Given the description of an element on the screen output the (x, y) to click on. 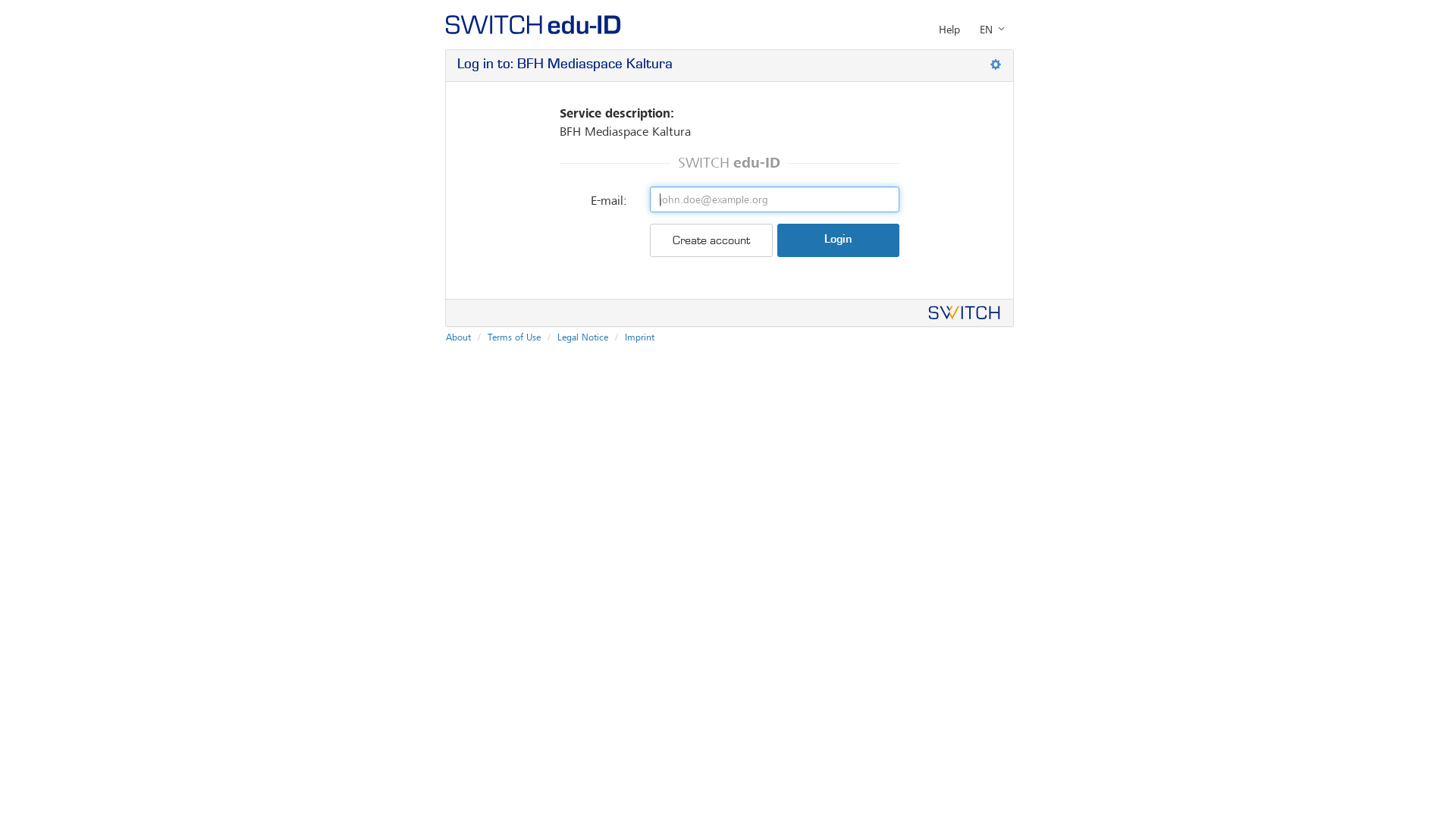
Login Element type: text (838, 239)
About Element type: text (457, 337)
EN Element type: text (991, 29)
Imprint Element type: text (639, 337)
Create account Element type: text (710, 239)
Help Element type: text (949, 29)
Legal Notice Element type: text (582, 337)
Terms of Use Element type: text (513, 337)
